Given the description of an element on the screen output the (x, y) to click on. 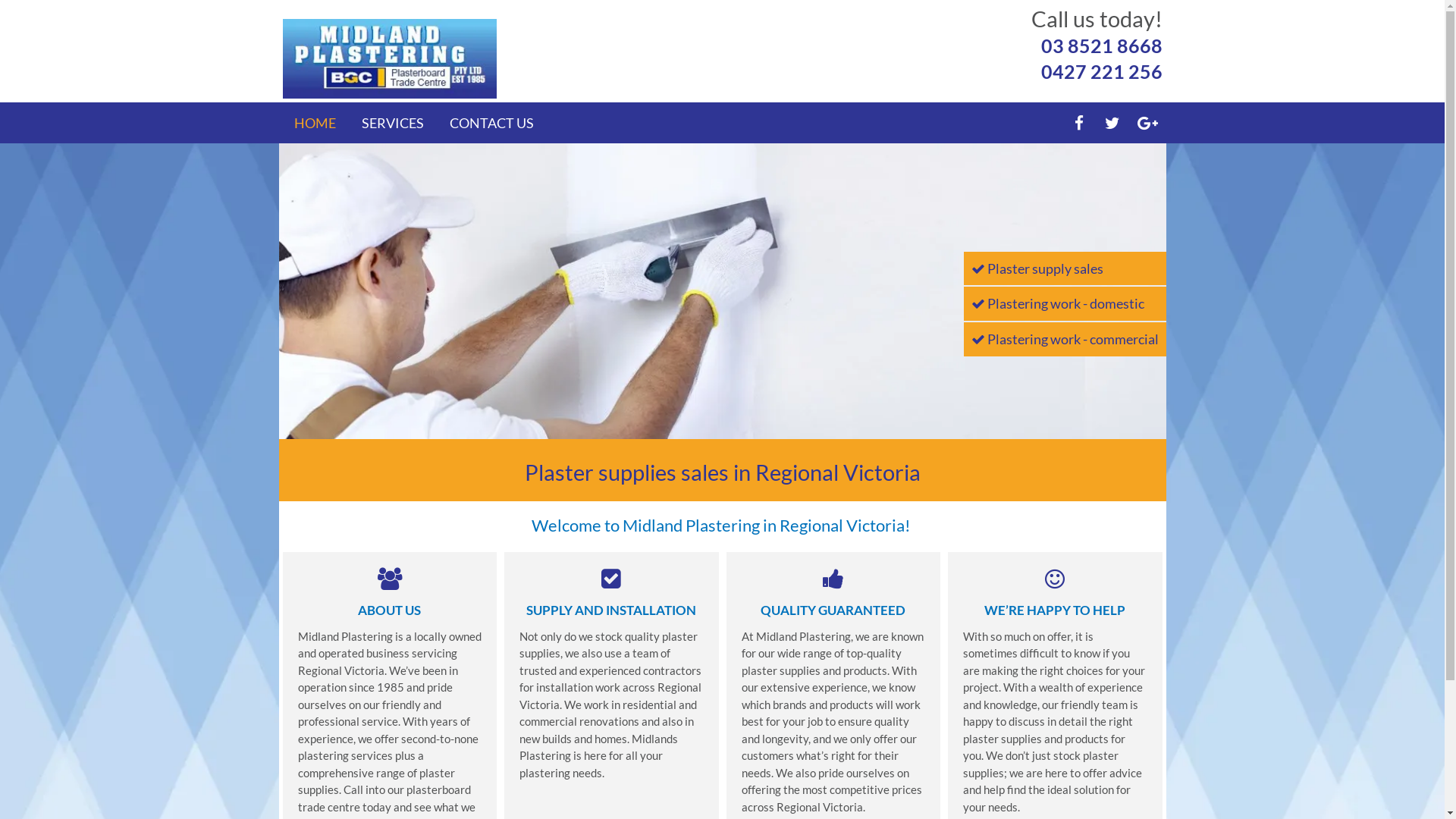
CONTACT US Element type: text (490, 122)
HOME Element type: text (314, 122)
midland plastering logo Element type: hover (389, 58)
midland plastering plaster work Element type: hover (722, 291)
0427 221 256 Element type: text (1100, 70)
03 8521 8668 Element type: text (1100, 45)
SERVICES Element type: text (391, 122)
